Given the description of an element on the screen output the (x, y) to click on. 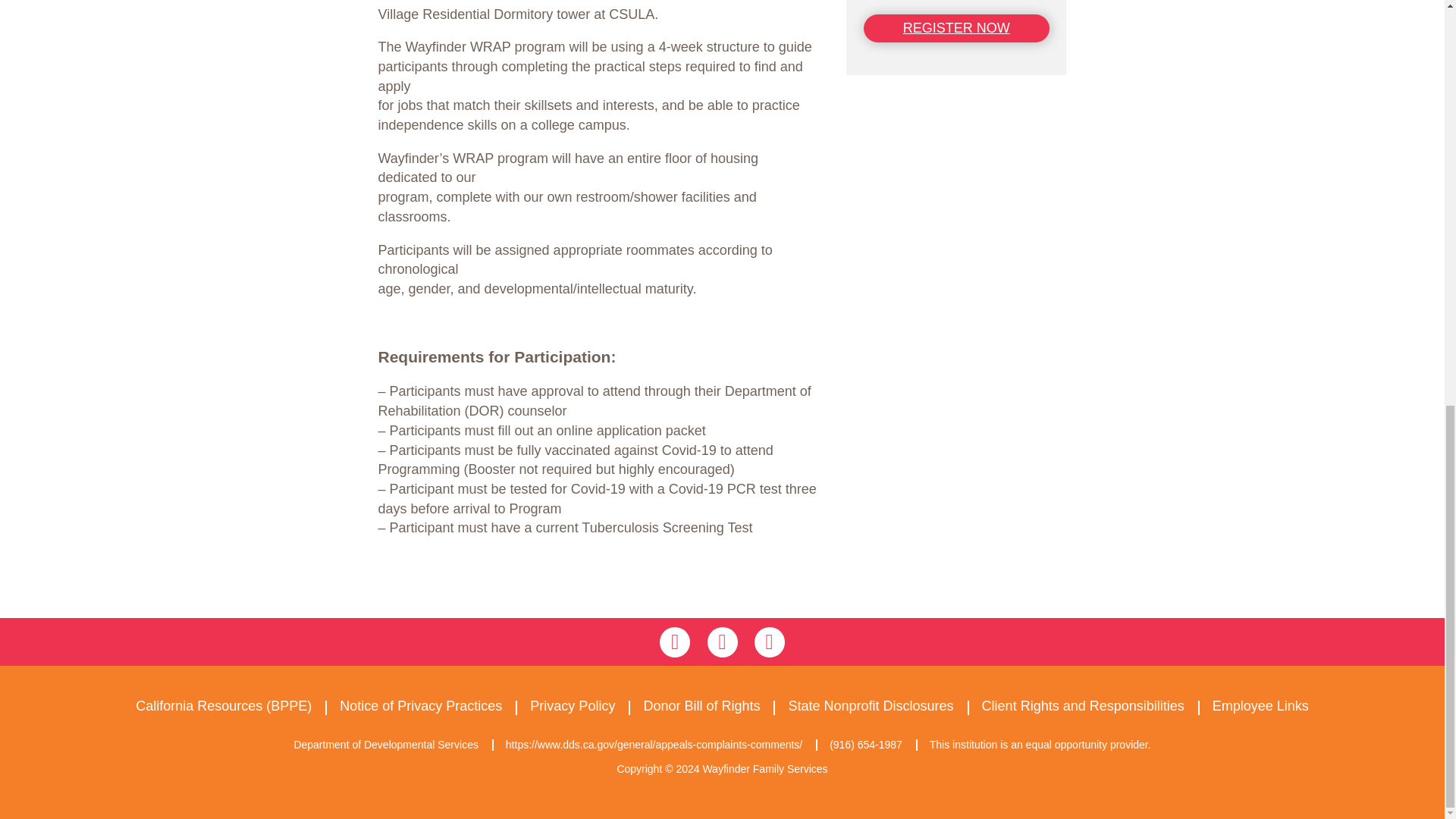
Facebook (674, 641)
Instagram (721, 641)
Youtube (769, 641)
